Given the description of an element on the screen output the (x, y) to click on. 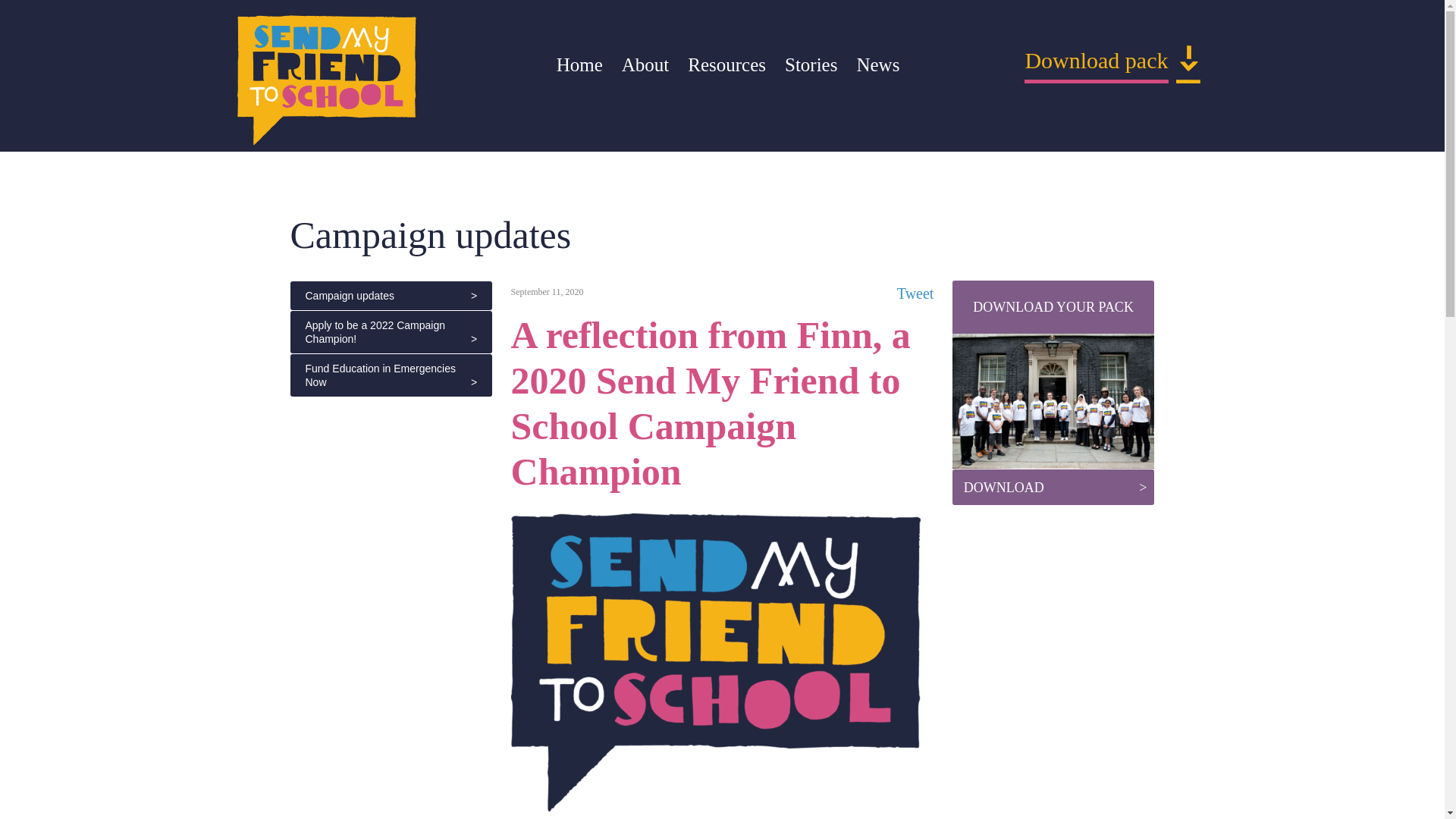
About (645, 64)
DOWNLOAD YOUR PACK (1053, 306)
Stories (810, 64)
Fund Education in Emergencies Now (390, 374)
Campaign updates (390, 295)
Resources (726, 64)
Home (579, 64)
News (877, 64)
Tweet (915, 293)
Download pack (1096, 64)
Campaign updates (429, 234)
DOWNLOAD (1053, 487)
Apply to be a 2022 Campaign Champion! (390, 331)
